Given the description of an element on the screen output the (x, y) to click on. 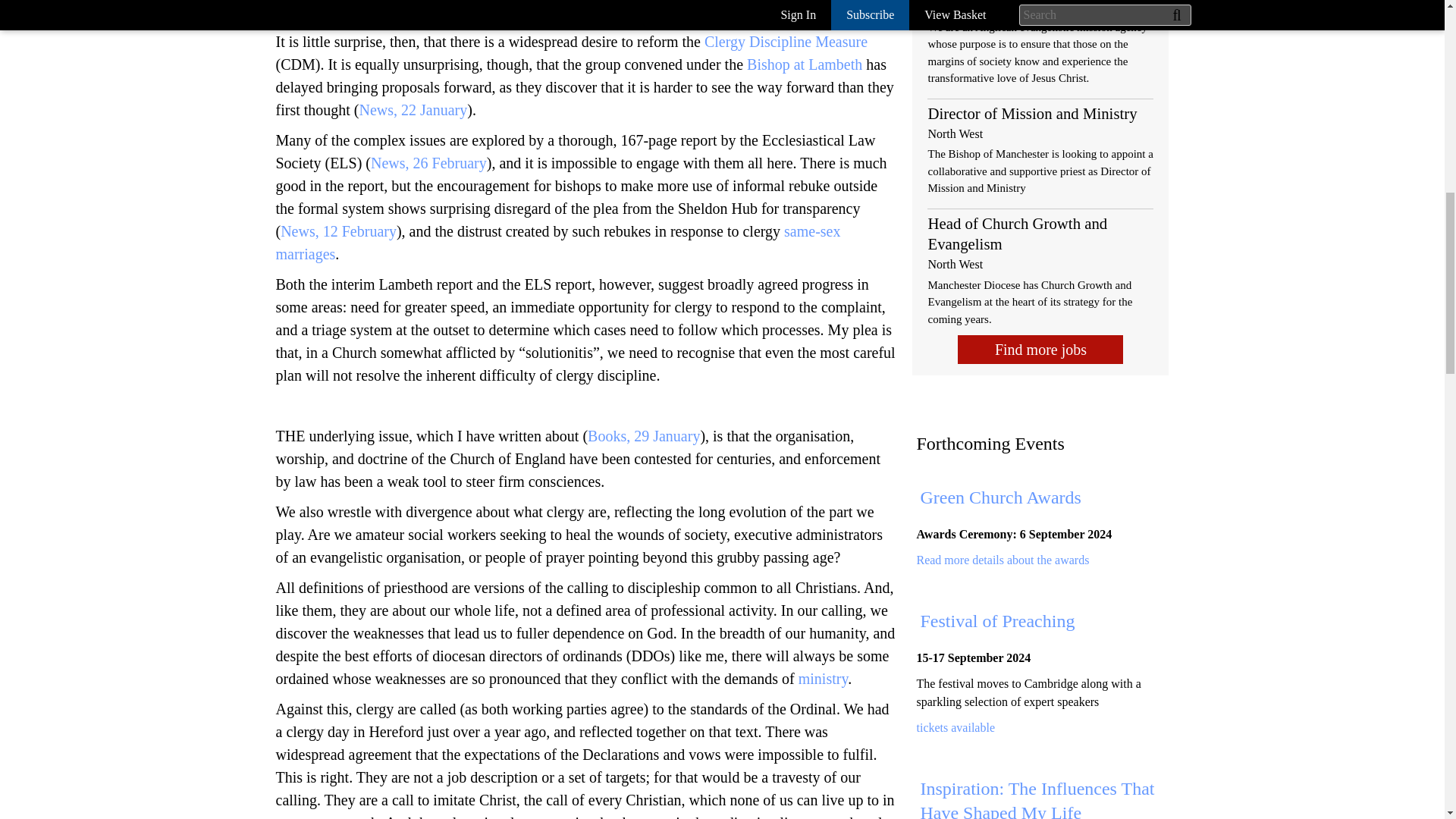
Inspiration: The Influences That Have Shaped My Life (1037, 798)
